Given the description of an element on the screen output the (x, y) to click on. 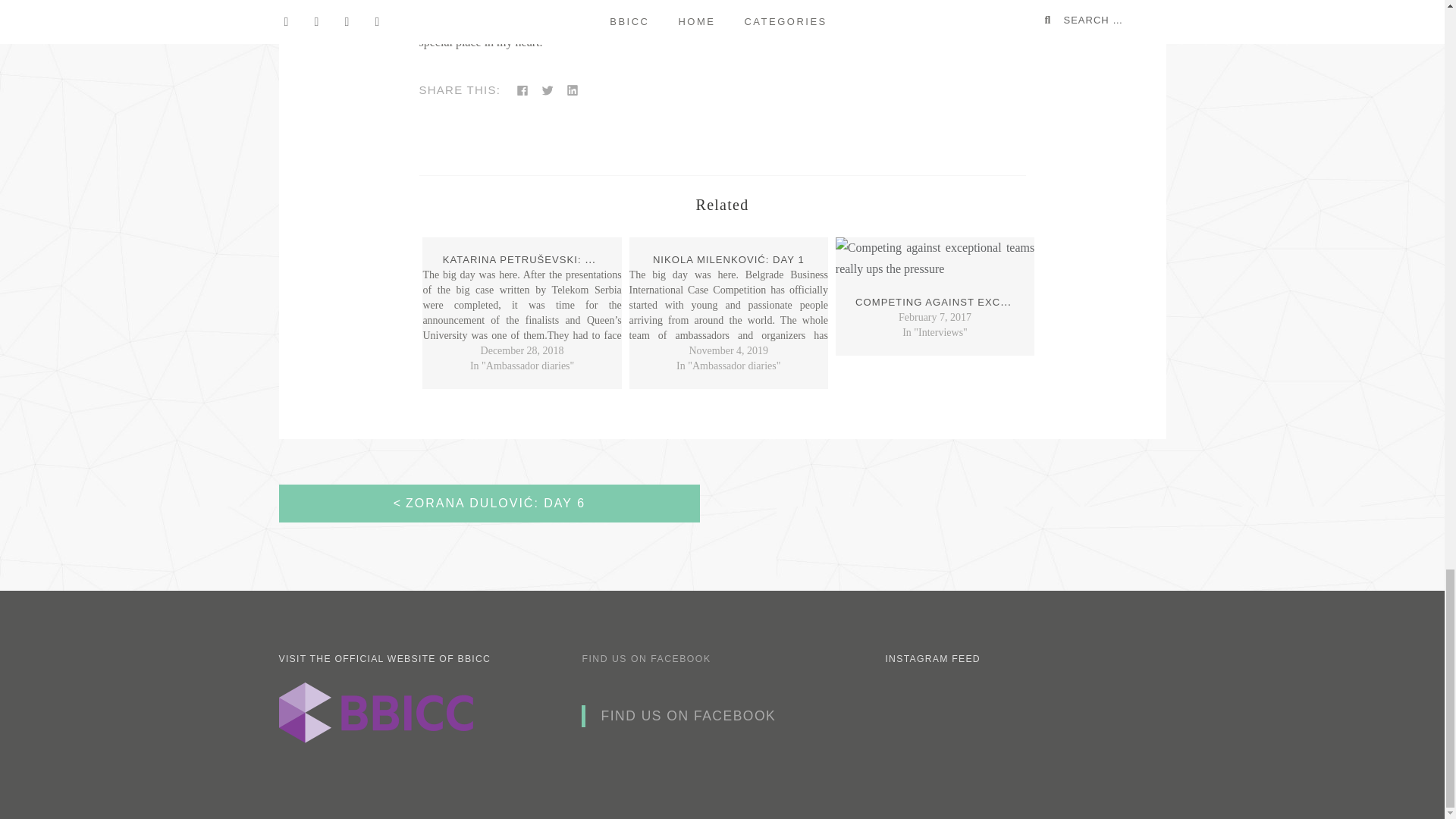
Click to share on Facebook (522, 88)
FIND US ON FACEBOOK (687, 715)
FIND US ON FACEBOOK (645, 658)
COMPETING AGAINST EXCEPTIONAL TEAMS REALLY UPS THE PRESSURE (1056, 301)
Click to share on Twitter (547, 88)
Click to share on LinkedIn (572, 88)
